Given the description of an element on the screen output the (x, y) to click on. 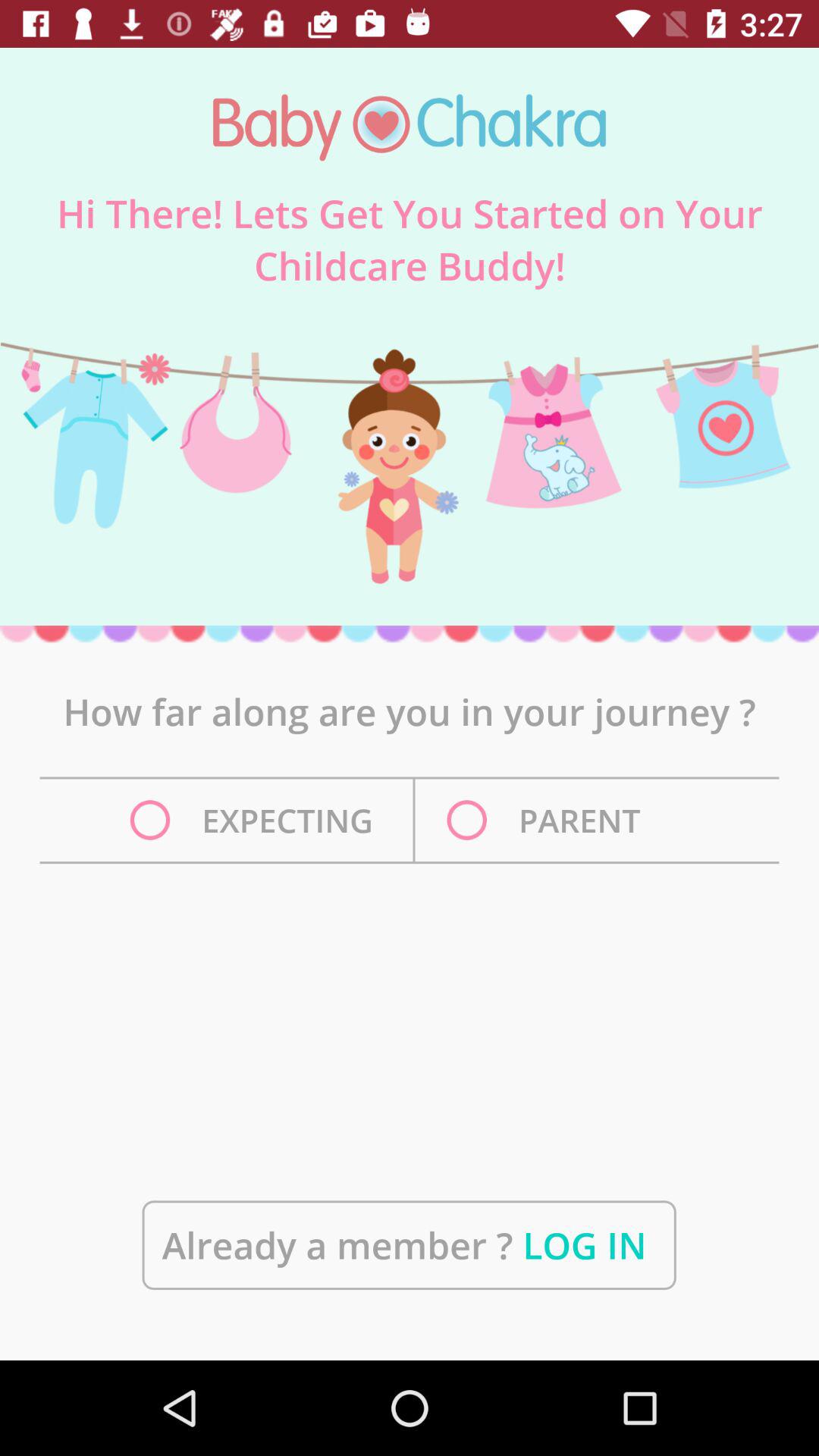
select already a member item (409, 1244)
